Given the description of an element on the screen output the (x, y) to click on. 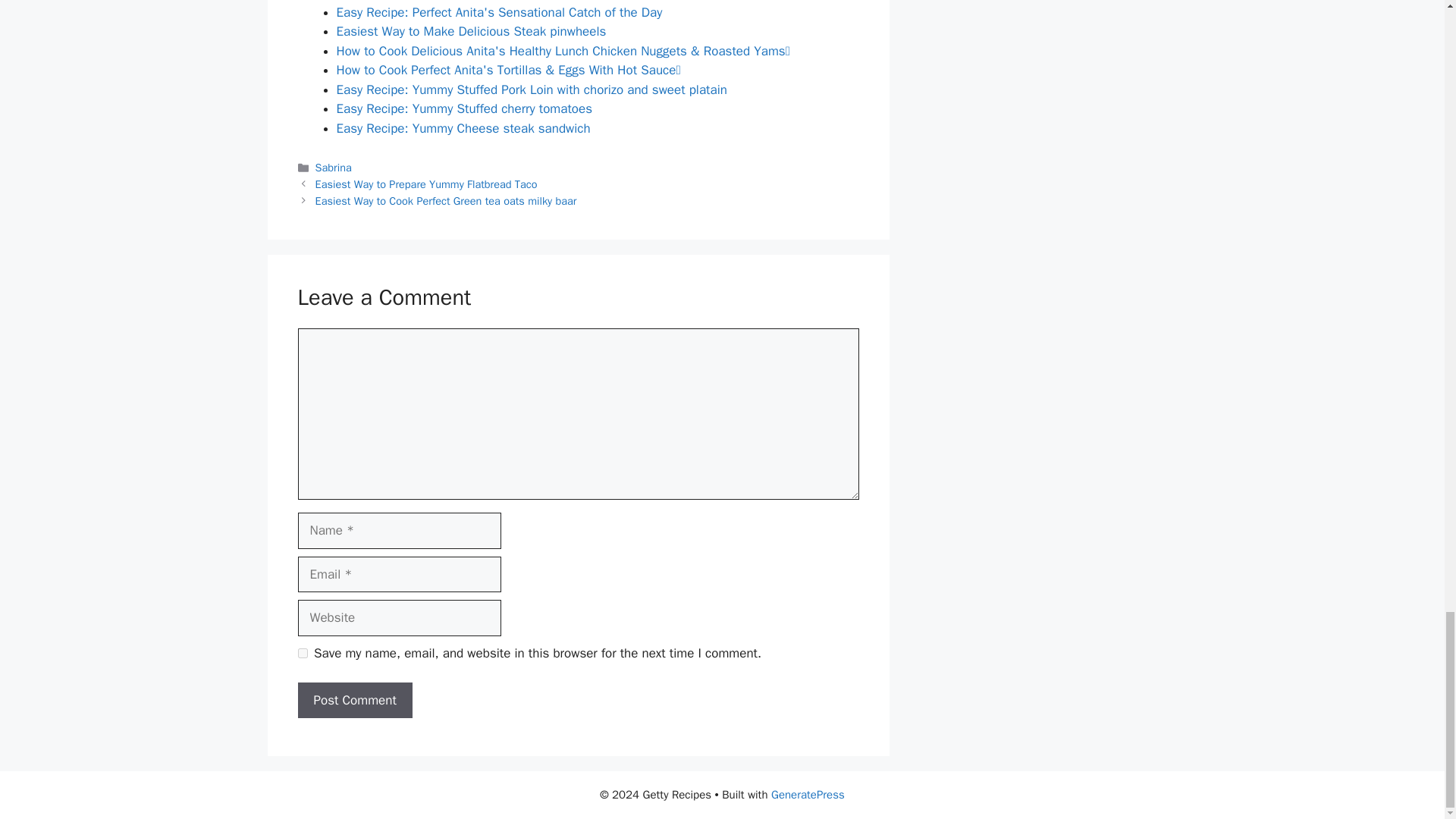
Easiest Way to Prepare Yummy Flatbread Taco (426, 183)
yes (302, 653)
Post Comment (354, 700)
Post Comment (354, 700)
Easy Recipe: Yummy Cheese steak sandwich (463, 128)
Easy Recipe: Yummy Stuffed cherry tomatoes (464, 108)
Sabrina (333, 167)
Easy Recipe: Perfect Anita's Sensational Catch of the Day (499, 12)
Easiest Way to Cook Perfect Green tea oats milky baar (445, 200)
Easiest Way to Make Delicious Steak pinwheels (471, 31)
